Given the description of an element on the screen output the (x, y) to click on. 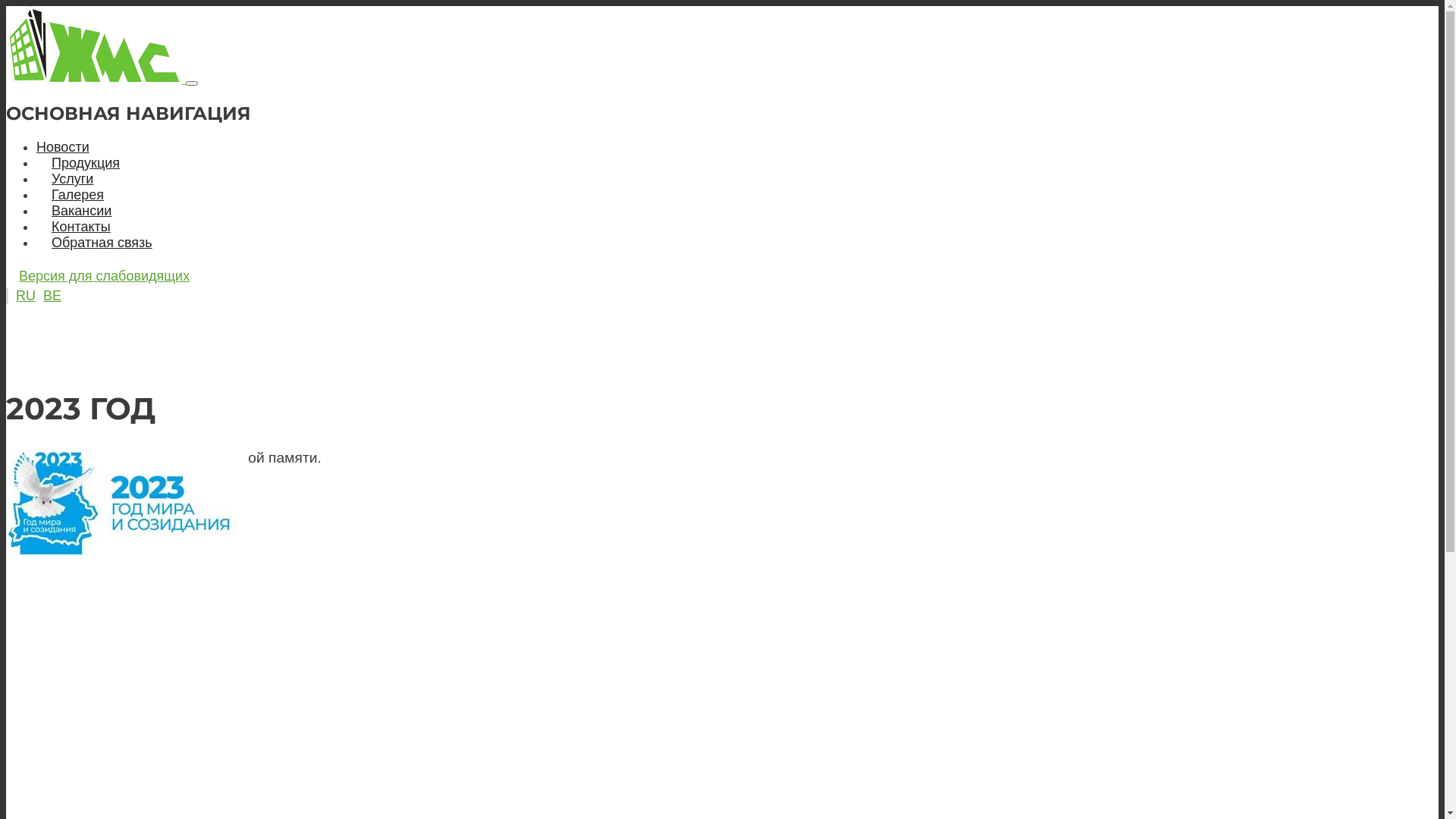
RU Element type: text (25, 295)
BE Element type: text (52, 295)
